Given the description of an element on the screen output the (x, y) to click on. 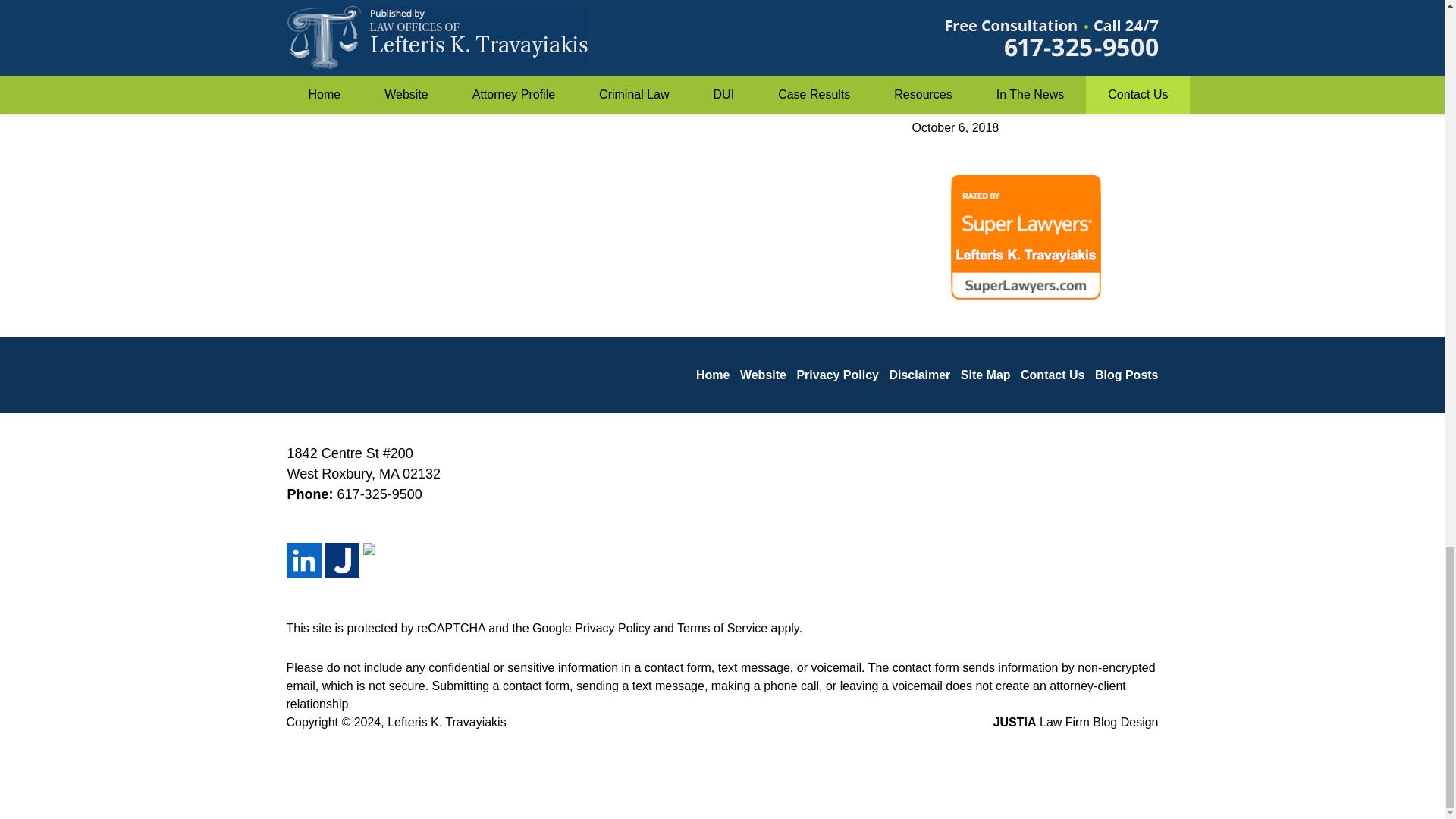
Feed (379, 560)
Justia (341, 560)
LinkedIn (303, 560)
